Given the description of an element on the screen output the (x, y) to click on. 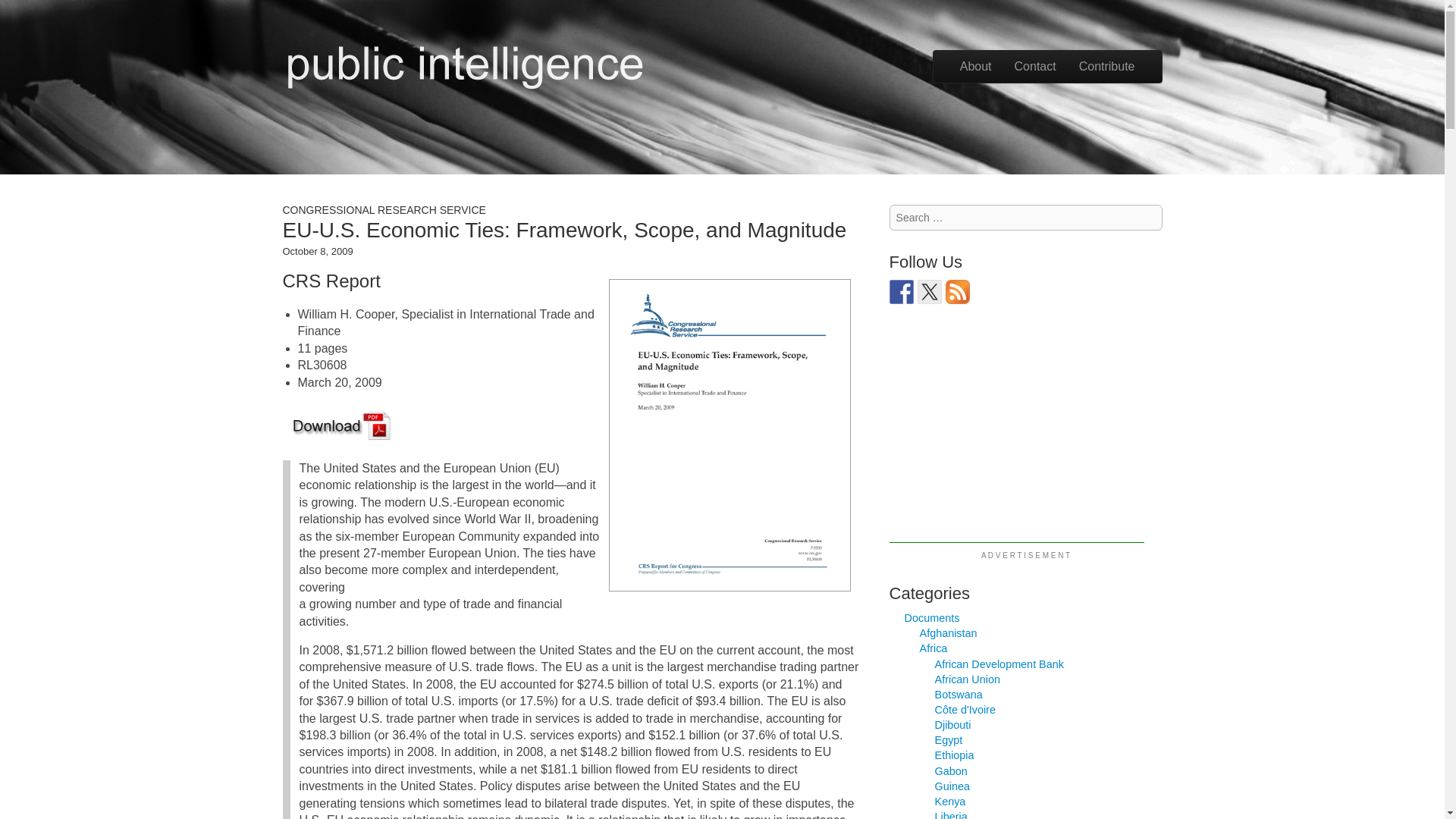
Ethiopia (954, 755)
Africa (933, 648)
Egypt (948, 739)
African Union (967, 679)
Public Intelligence (464, 63)
About (976, 66)
Liberia (951, 814)
Skip to content (973, 57)
Skip to content (973, 57)
Botswana (958, 694)
Guinea (951, 786)
Search (28, 11)
October 8, 2009 (317, 251)
Kenya (950, 801)
Documents (931, 617)
